Given the description of an element on the screen output the (x, y) to click on. 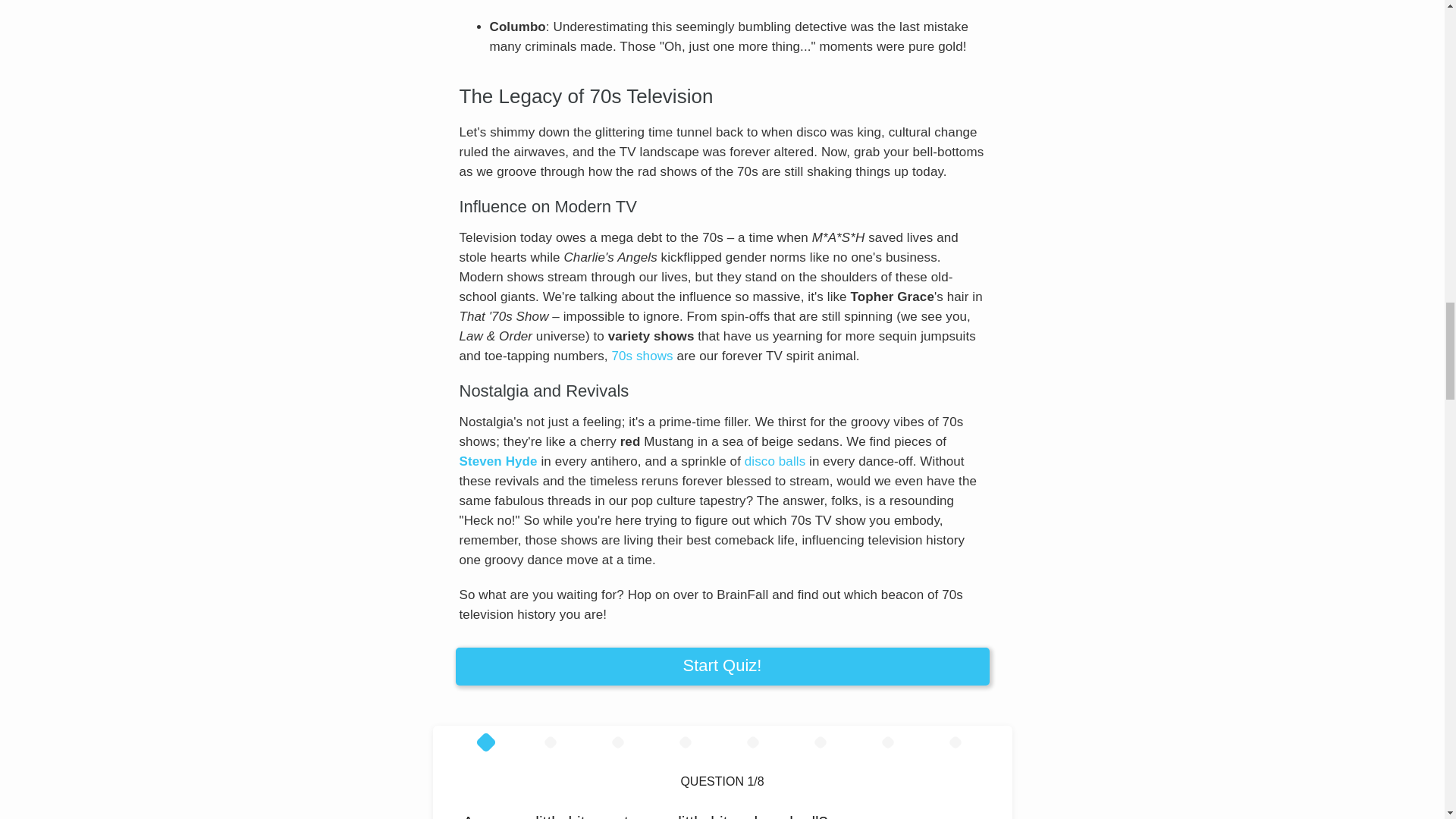
Start Quiz! (721, 666)
